Given the description of an element on the screen output the (x, y) to click on. 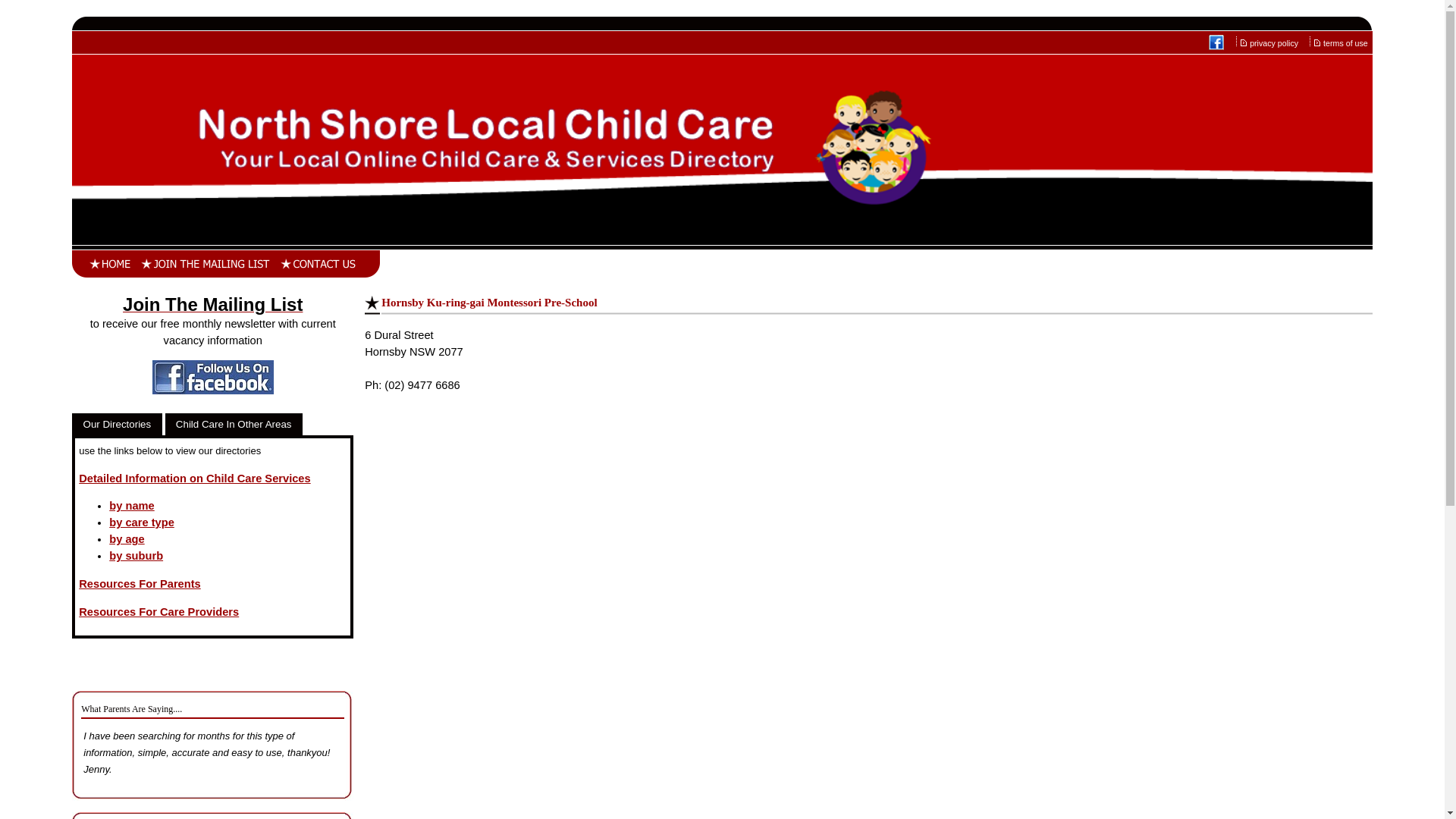
Detailed Information on Child Care Services Element type: text (194, 478)
Resources For Parents Element type: text (139, 583)
terms of use Element type: text (1346, 43)
by name Element type: text (131, 505)
by suburb Element type: text (136, 555)
by age Element type: text (126, 539)
Child Care In Other Areas Element type: text (233, 424)
Our Directories Element type: text (116, 424)
Resources For Care Providers Element type: text (158, 611)
by care type Element type: text (141, 522)
privacy policy Element type: text (1274, 43)
Join The Mailing List Element type: text (212, 307)
